Given the description of an element on the screen output the (x, y) to click on. 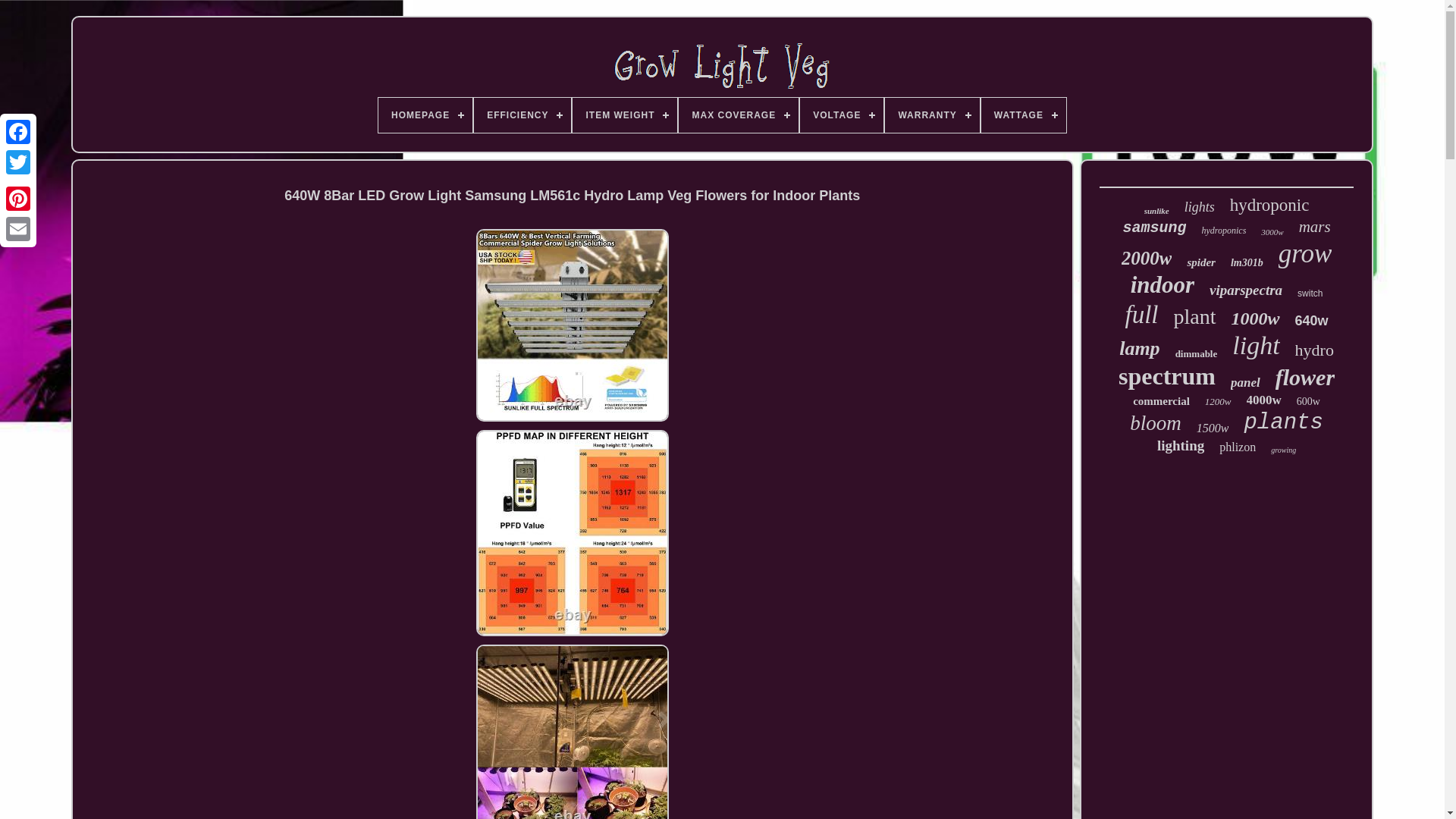
ITEM WEIGHT (624, 114)
HOMEPAGE (424, 114)
Twitter (17, 162)
MAX COVERAGE (737, 114)
EFFICIENCY (522, 114)
